Given the description of an element on the screen output the (x, y) to click on. 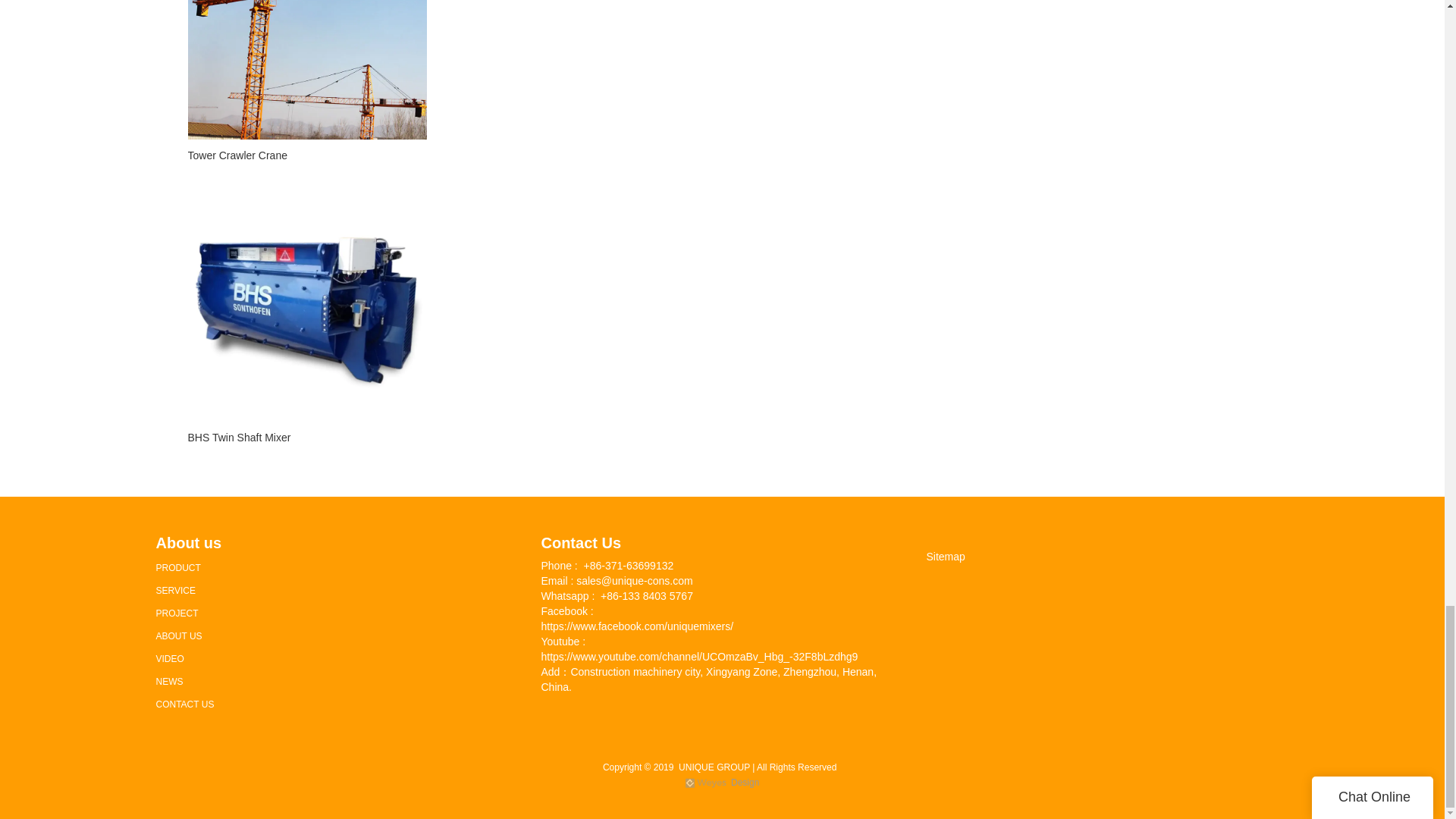
BHS Twin Shaft Mixer (306, 437)
Tower Crawler Crane (306, 155)
